Given the description of an element on the screen output the (x, y) to click on. 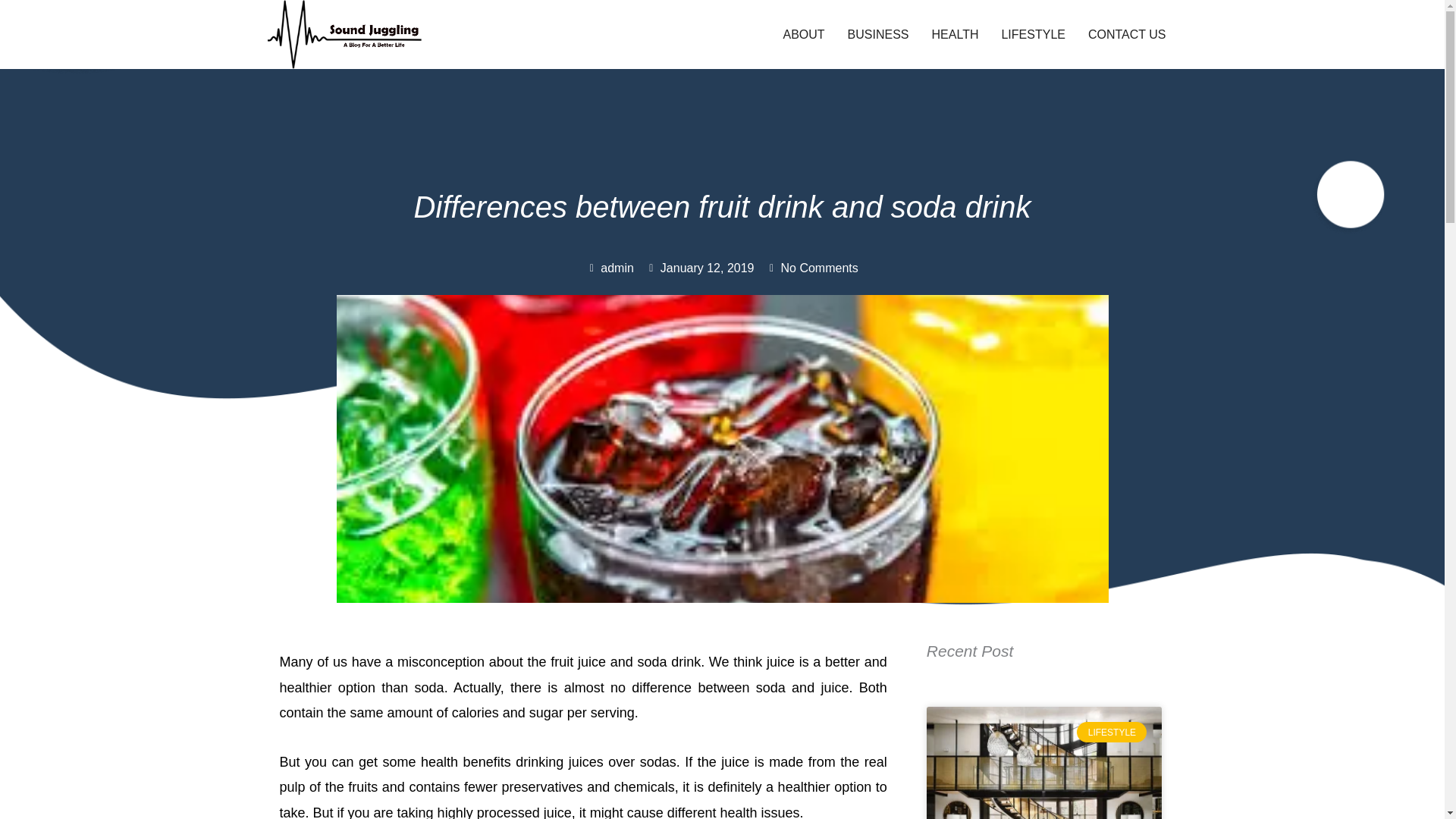
LIFESTYLE (1032, 34)
BUSINESS (877, 34)
January 12, 2019 (700, 268)
ABOUT (803, 34)
No Comments (811, 268)
HEALTH (955, 34)
admin (609, 268)
CONTACT US (1127, 34)
